Given the description of an element on the screen output the (x, y) to click on. 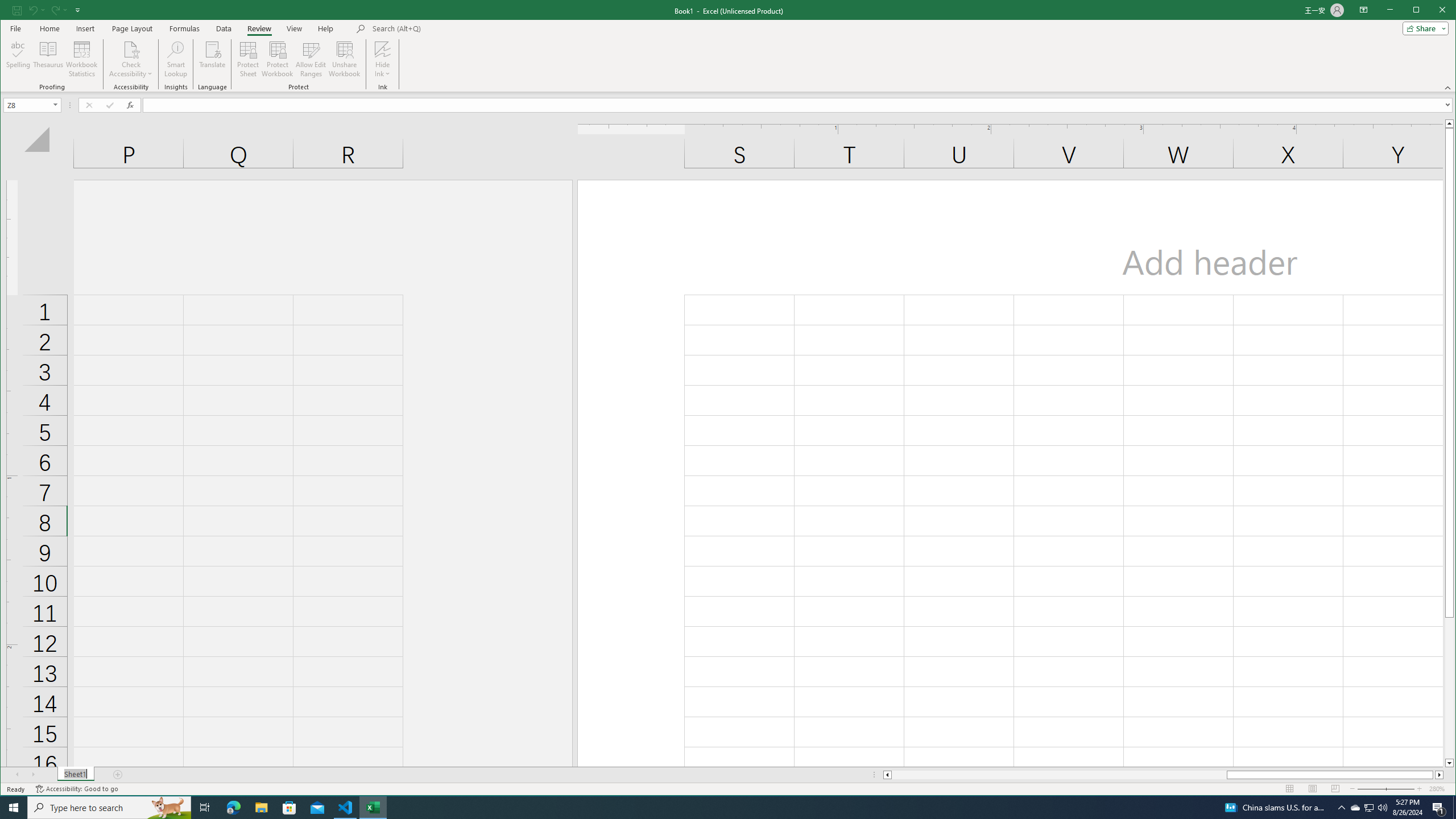
Line up (1449, 122)
Class: MsoCommandBar (728, 45)
Smart Lookup (176, 59)
Protect Sheet... (247, 59)
Microsoft Edge (233, 807)
Undo (36, 9)
Maximize (1432, 11)
Customize Quick Access Toolbar (77, 9)
System (10, 10)
Quick Access Toolbar (46, 9)
Ribbon Display Options (1364, 9)
User Promoted Notification Area (1368, 807)
Redo (55, 9)
